Given the description of an element on the screen output the (x, y) to click on. 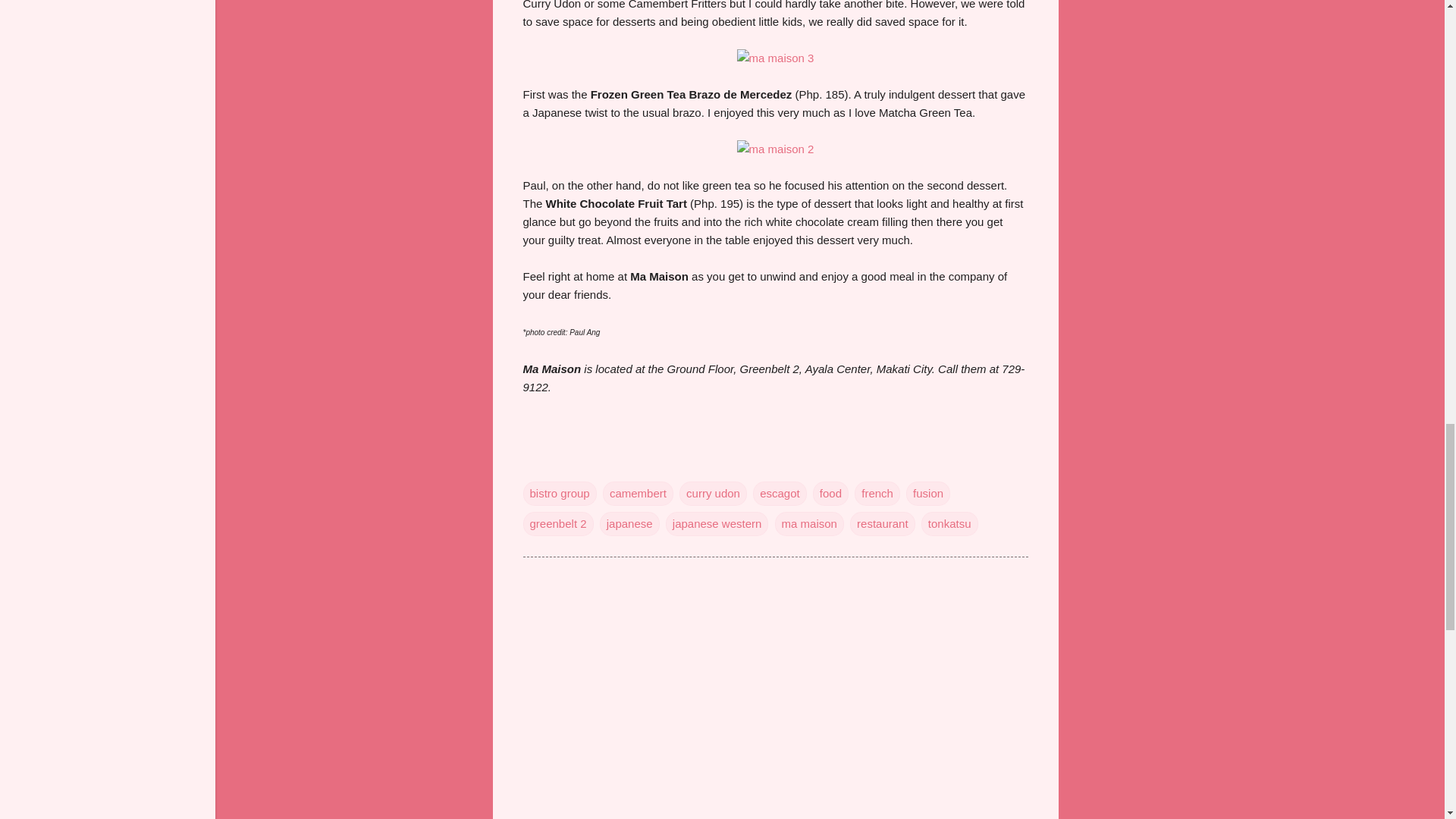
curry udon (712, 492)
ma maison (809, 523)
japanese (629, 523)
japanese western (716, 523)
tonkatsu (949, 523)
escagot (779, 492)
greenbelt 2 (558, 523)
food (830, 492)
fusion (927, 492)
camembert (637, 492)
